Given the description of an element on the screen output the (x, y) to click on. 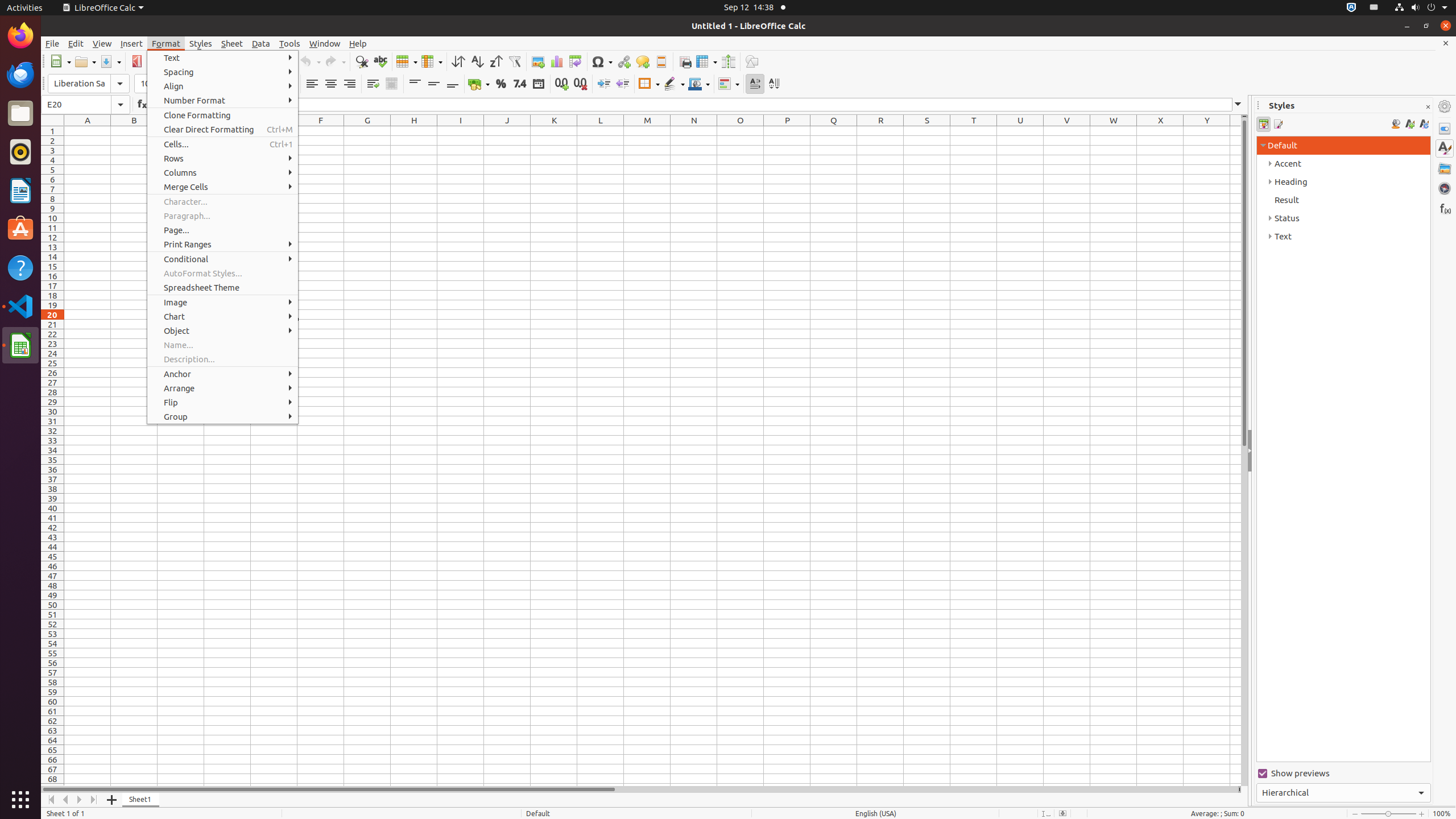
Close Sidebar Deck Element type: push-button (1427, 106)
:1.21/StatusNotifierItem Element type: menu (1373, 7)
Row Element type: push-button (406, 61)
System Element type: menu (1420, 7)
Number Format Element type: menu (222, 100)
